Given the description of an element on the screen output the (x, y) to click on. 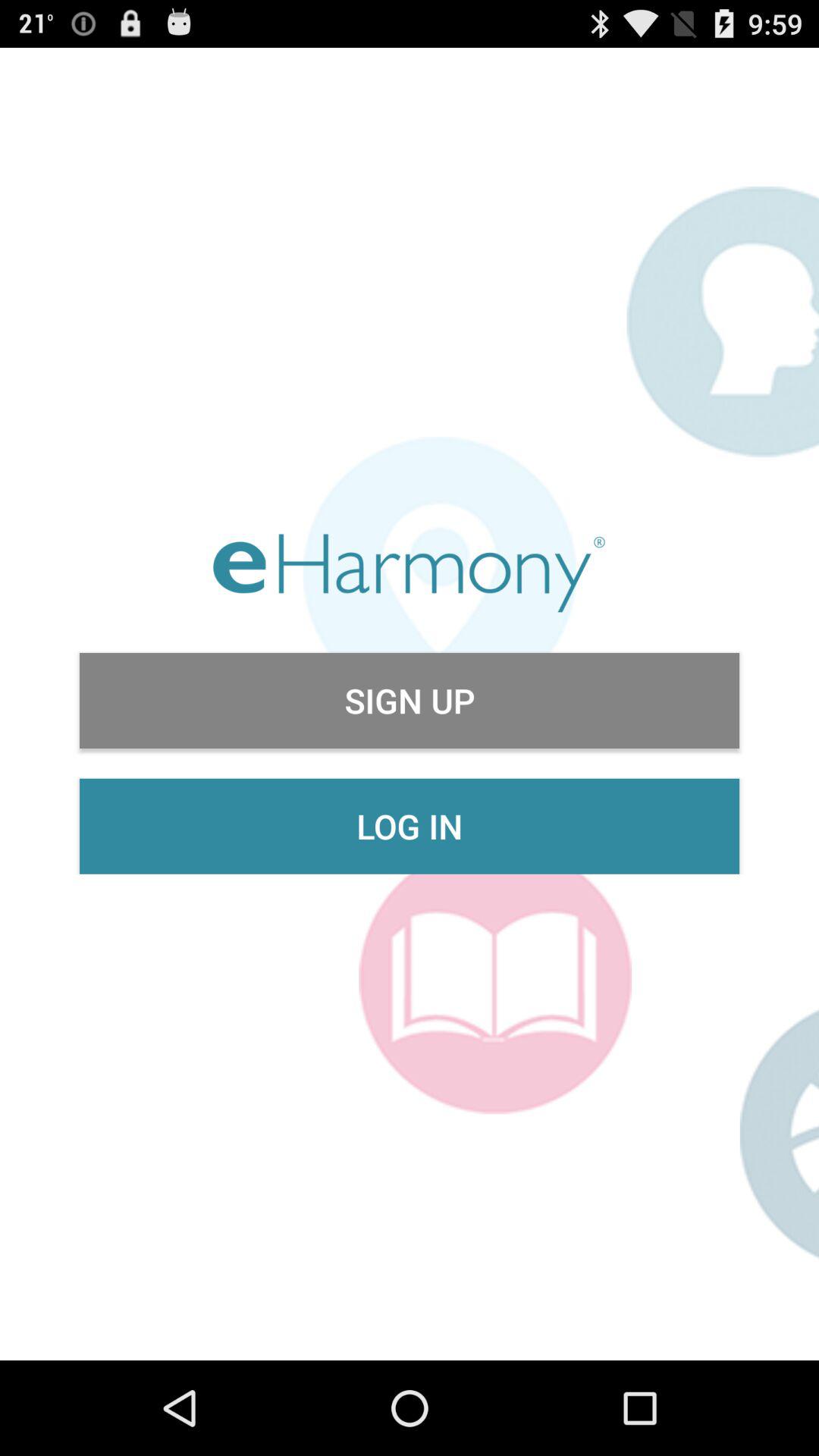
swipe until the log in item (409, 826)
